Given the description of an element on the screen output the (x, y) to click on. 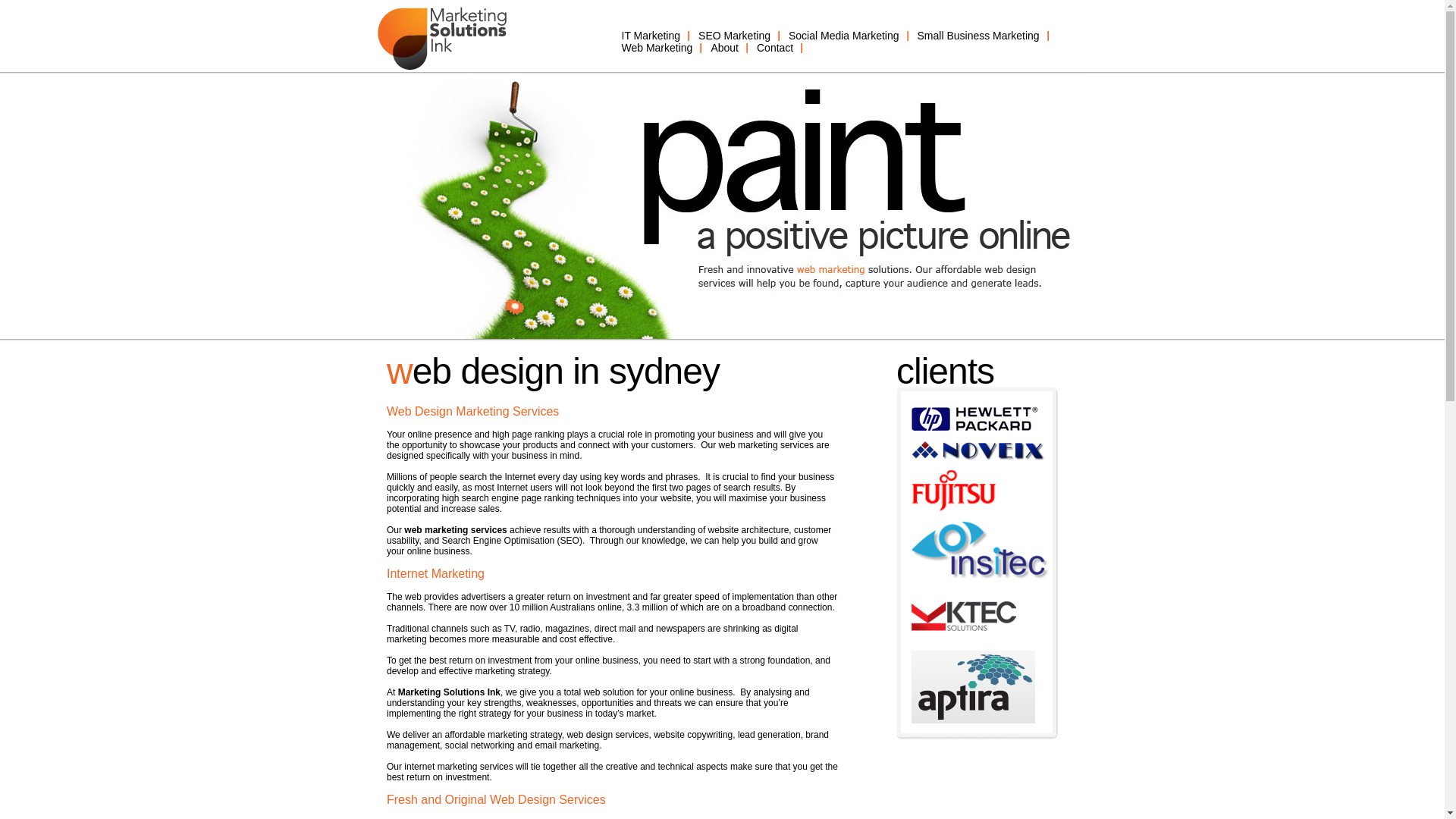
Contact Element type: text (774, 47)
About Element type: text (724, 47)
Small Business Marketing Element type: text (978, 35)
Social Media Marketing Element type: text (843, 35)
Web Marketing Element type: text (657, 47)
IT Marketing Element type: text (651, 35)
Marketing Solutions Ink Element type: text (449, 692)
SEO Marketing Element type: text (734, 35)
